Given the description of an element on the screen output the (x, y) to click on. 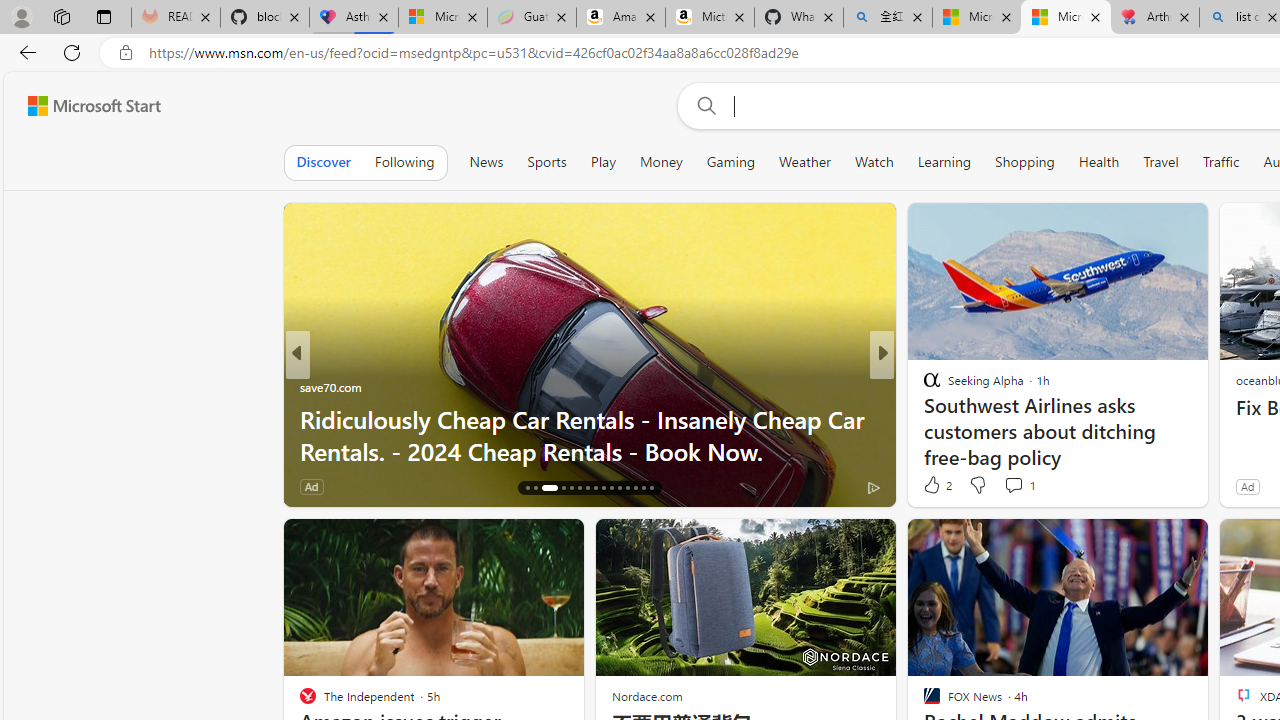
Asthma Inhalers: Names and Types (353, 17)
AutomationID: tab-20 (571, 487)
Gaming (730, 161)
Money (661, 162)
View comments 20 Comment (1019, 485)
AutomationID: tab-27 (627, 487)
View comments 7 Comment (1026, 486)
Money (660, 161)
136 Like (936, 486)
Play (602, 161)
View comments 20 Comment (1029, 486)
View comments 4 Comment (1019, 485)
